Given the description of an element on the screen output the (x, y) to click on. 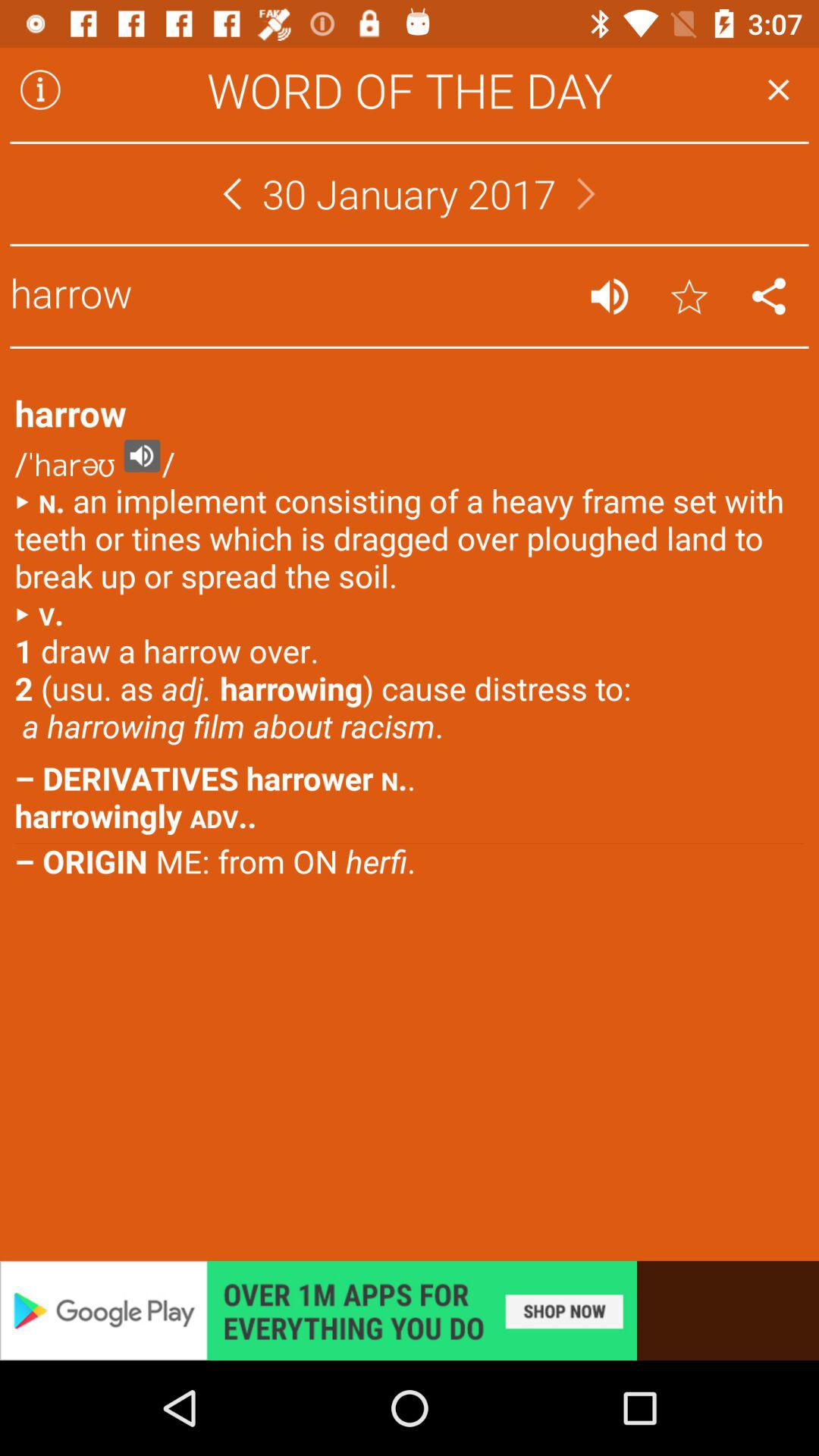
select as a favourite (689, 296)
